Given the description of an element on the screen output the (x, y) to click on. 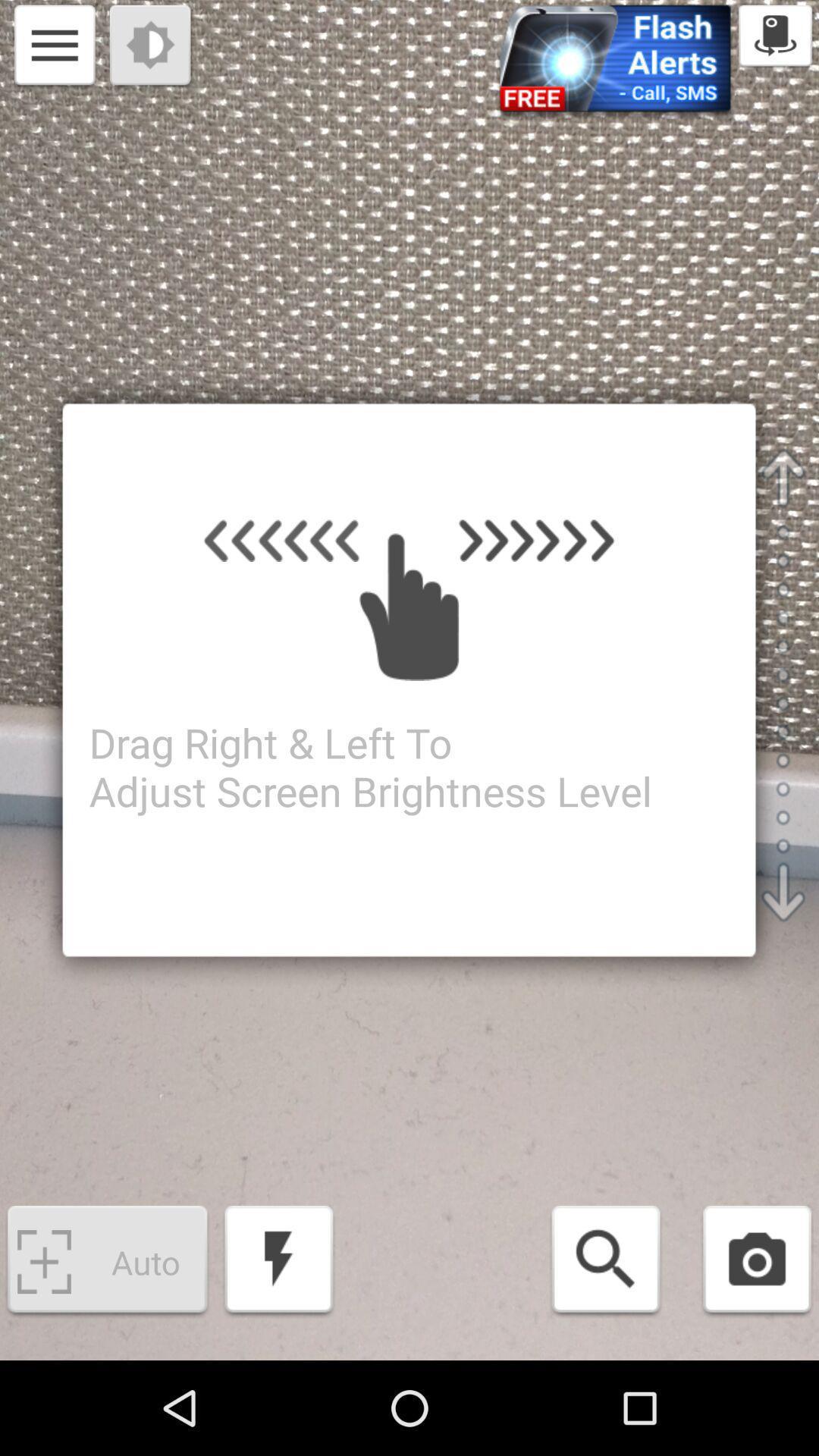
click the icon above the drag right left app (54, 47)
